Given the description of an element on the screen output the (x, y) to click on. 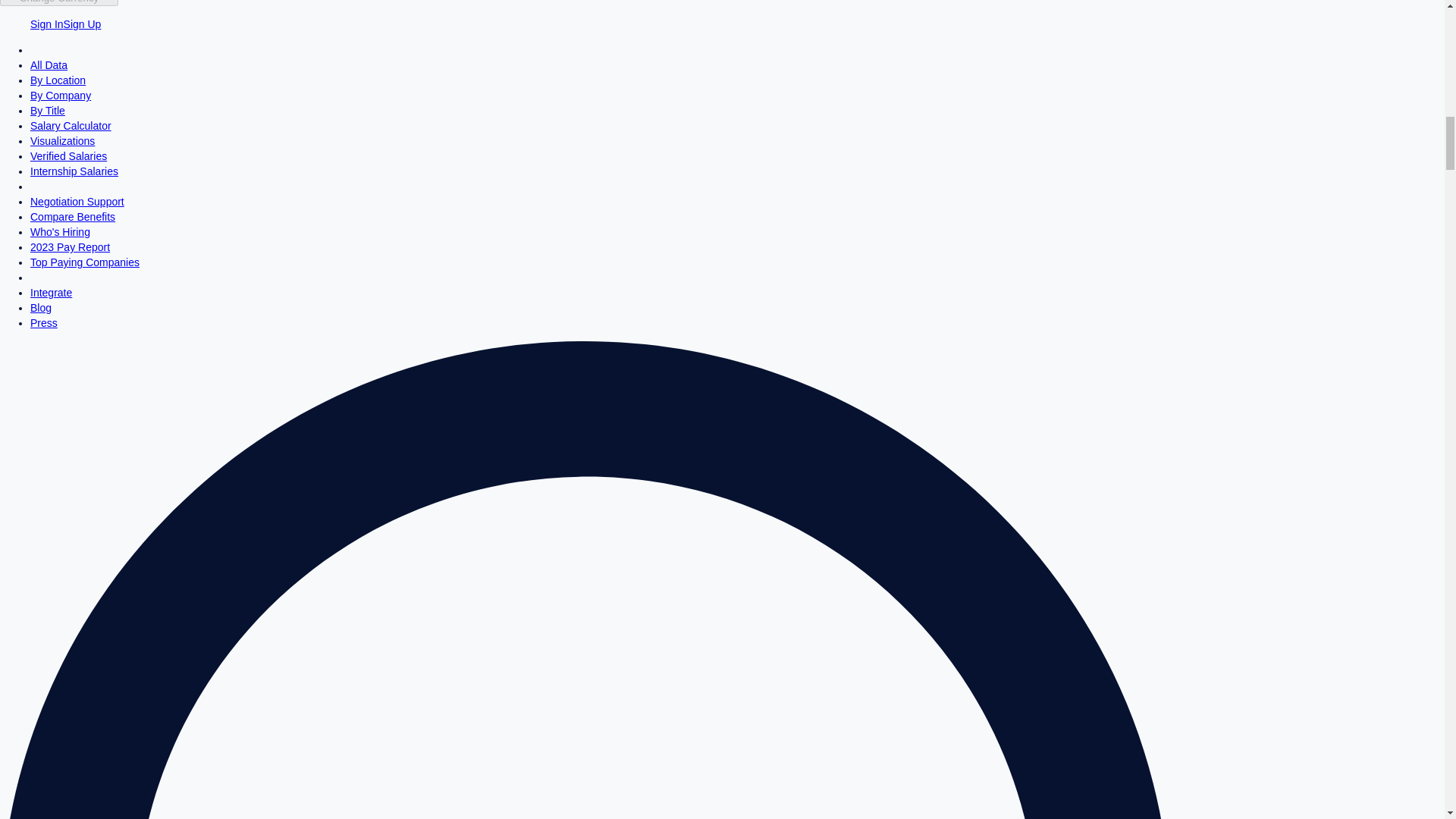
Press (44, 322)
Internship Salaries (73, 171)
Top Paying Companies (84, 262)
Sign Up (82, 24)
Salary Calculator (71, 125)
All Data (48, 64)
Integrate (50, 292)
Visualizations (62, 141)
Verified Salaries (68, 155)
Blog (40, 307)
Sign In (47, 24)
By Title (47, 110)
Compare Benefits (72, 216)
Who's Hiring (60, 232)
By Location (57, 80)
